Given the description of an element on the screen output the (x, y) to click on. 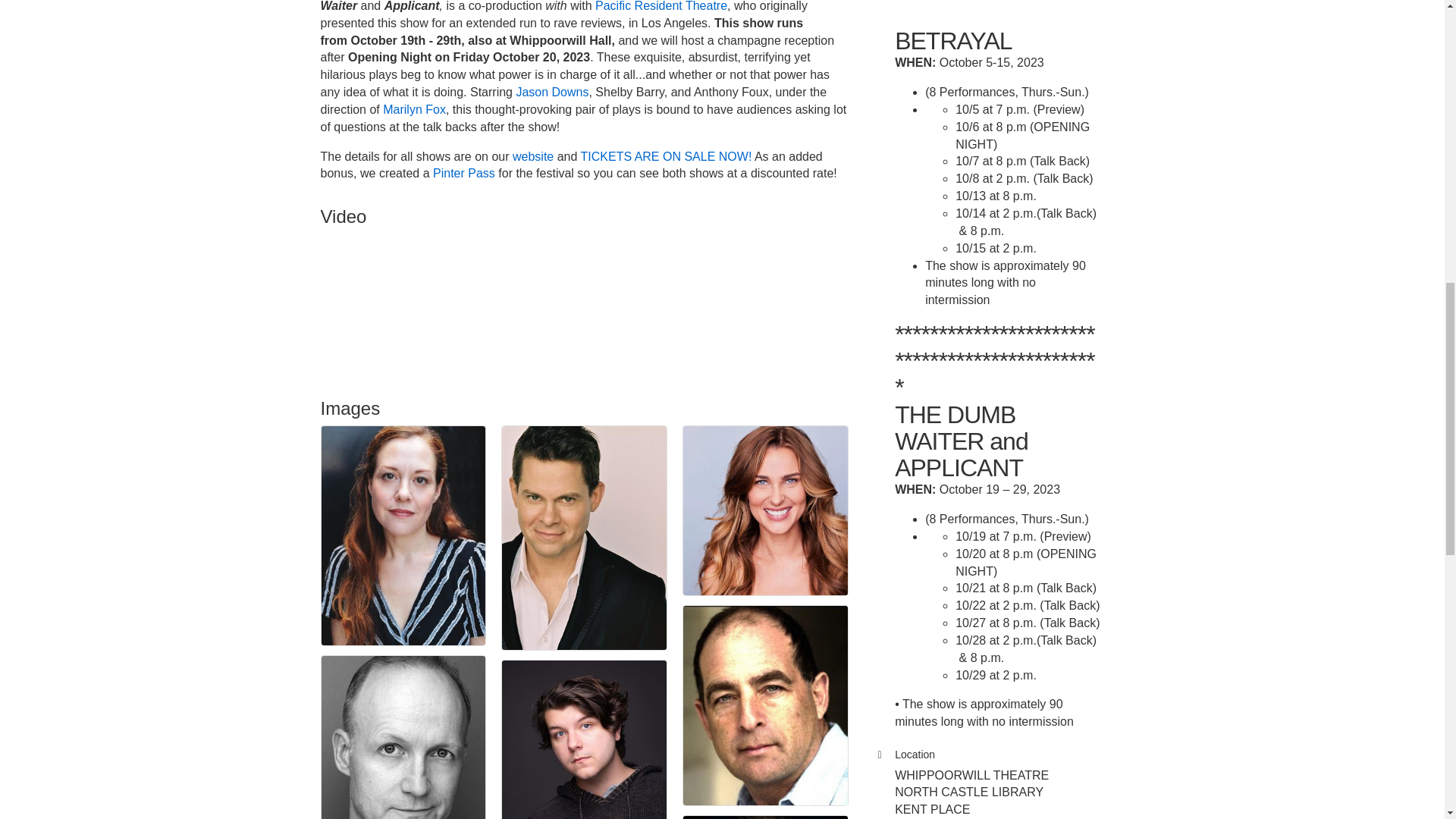
YouTube Embedded (446, 304)
Pacific Resident Theatre (660, 6)
